Given the description of an element on the screen output the (x, y) to click on. 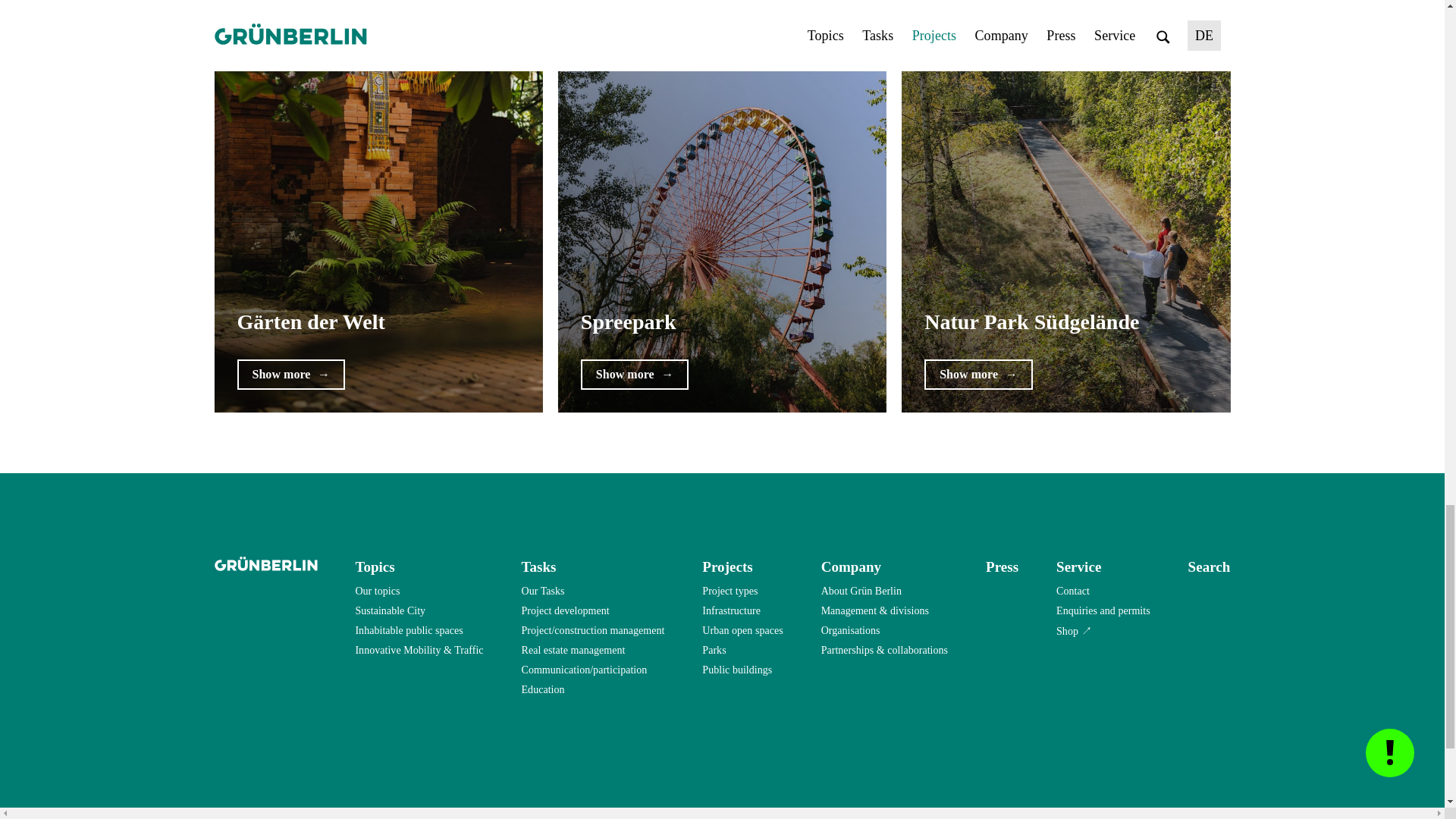
Press (1001, 565)
Real estate management (573, 650)
Our Tasks (542, 591)
Our topics (376, 591)
Education (542, 690)
Inhabitable public spaces (409, 630)
Education (542, 690)
Projects (726, 565)
Our Tasks (542, 591)
Tasks (538, 565)
Service (1078, 565)
Tasks (538, 565)
Topics (374, 565)
Urban open spaces (742, 630)
Sustainable City (390, 610)
